Given the description of an element on the screen output the (x, y) to click on. 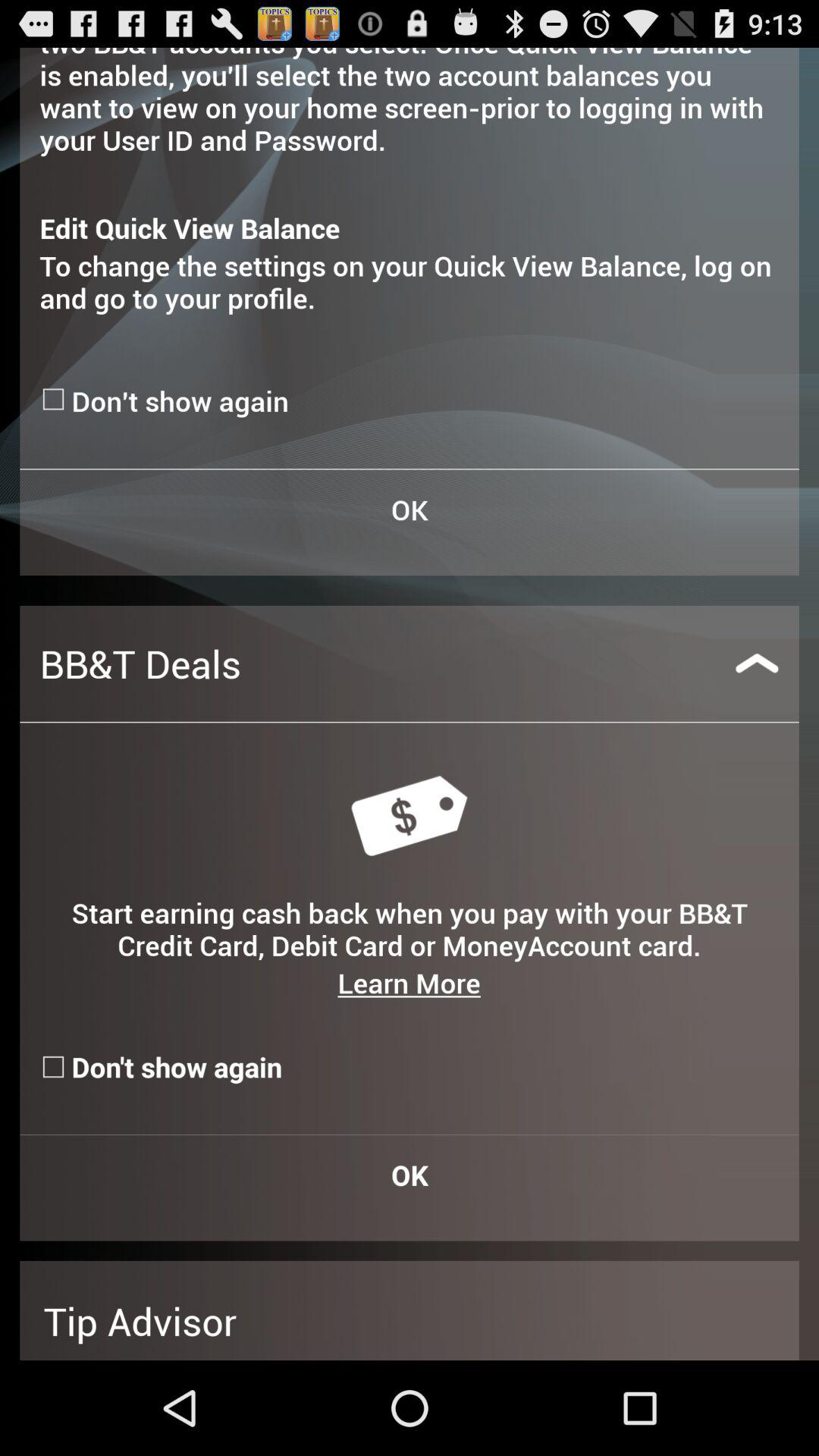
do n't show again (55, 398)
